Given the description of an element on the screen output the (x, y) to click on. 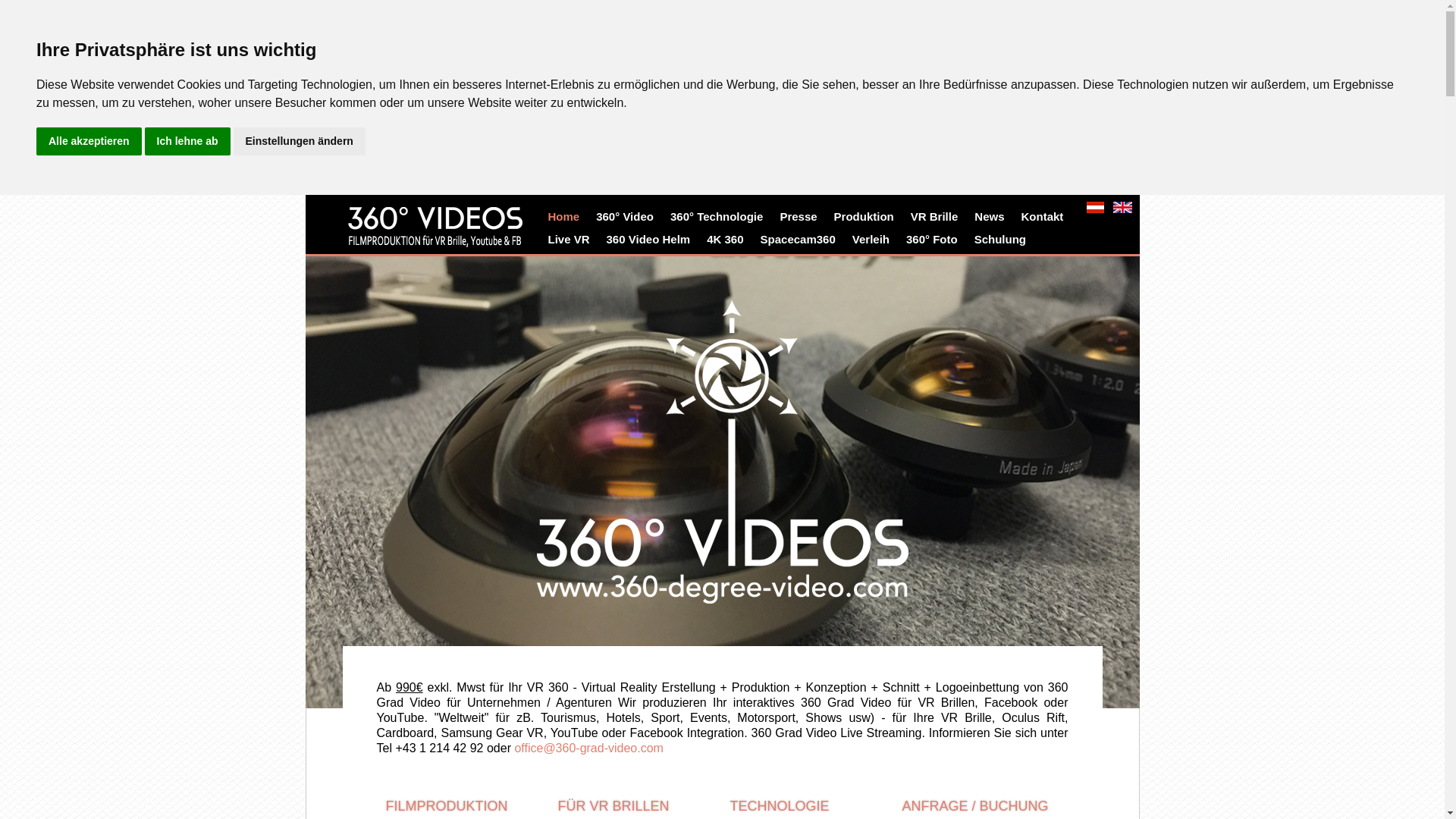
Verleih Element type: text (873, 239)
Produktion Element type: text (867, 216)
TECHNOLOGIE Element type: text (778, 805)
Kontakt Element type: text (1044, 216)
ANFRAGE / BUCHUNG Element type: text (975, 805)
Presse Element type: text (800, 216)
Spacecam360 Element type: text (800, 239)
Alle akzeptieren Element type: text (88, 141)
Ich lehne ab Element type: text (187, 141)
360 Video Helm Element type: text (651, 239)
Schulung Element type: text (1003, 239)
home Element type: hover (465, 230)
Live VR Element type: text (571, 239)
Deutsch Element type: hover (1094, 207)
Home Element type: text (566, 216)
News Element type: text (992, 216)
FILMPRODUKTION Element type: text (446, 805)
VR Brille Element type: text (937, 216)
4K 360 Element type: text (727, 239)
office@360-grad-video.com Element type: text (588, 747)
English Element type: hover (1122, 207)
